Given the description of an element on the screen output the (x, y) to click on. 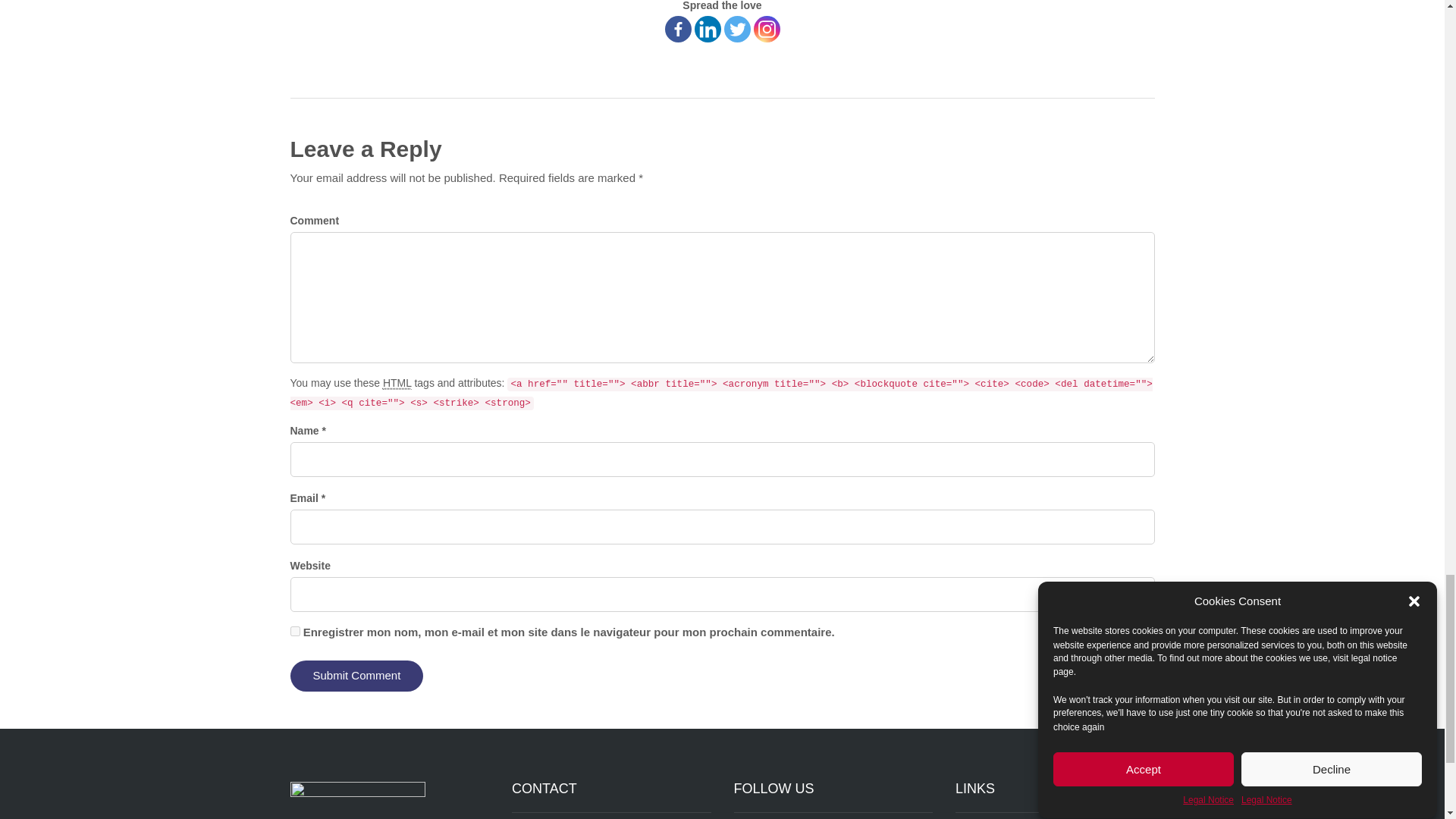
Twitter (736, 28)
yes (294, 631)
Instagram (767, 28)
HyperText Markup Language (397, 382)
Submit Comment (356, 675)
Linkedin (707, 28)
Facebook (676, 28)
